Given the description of an element on the screen output the (x, y) to click on. 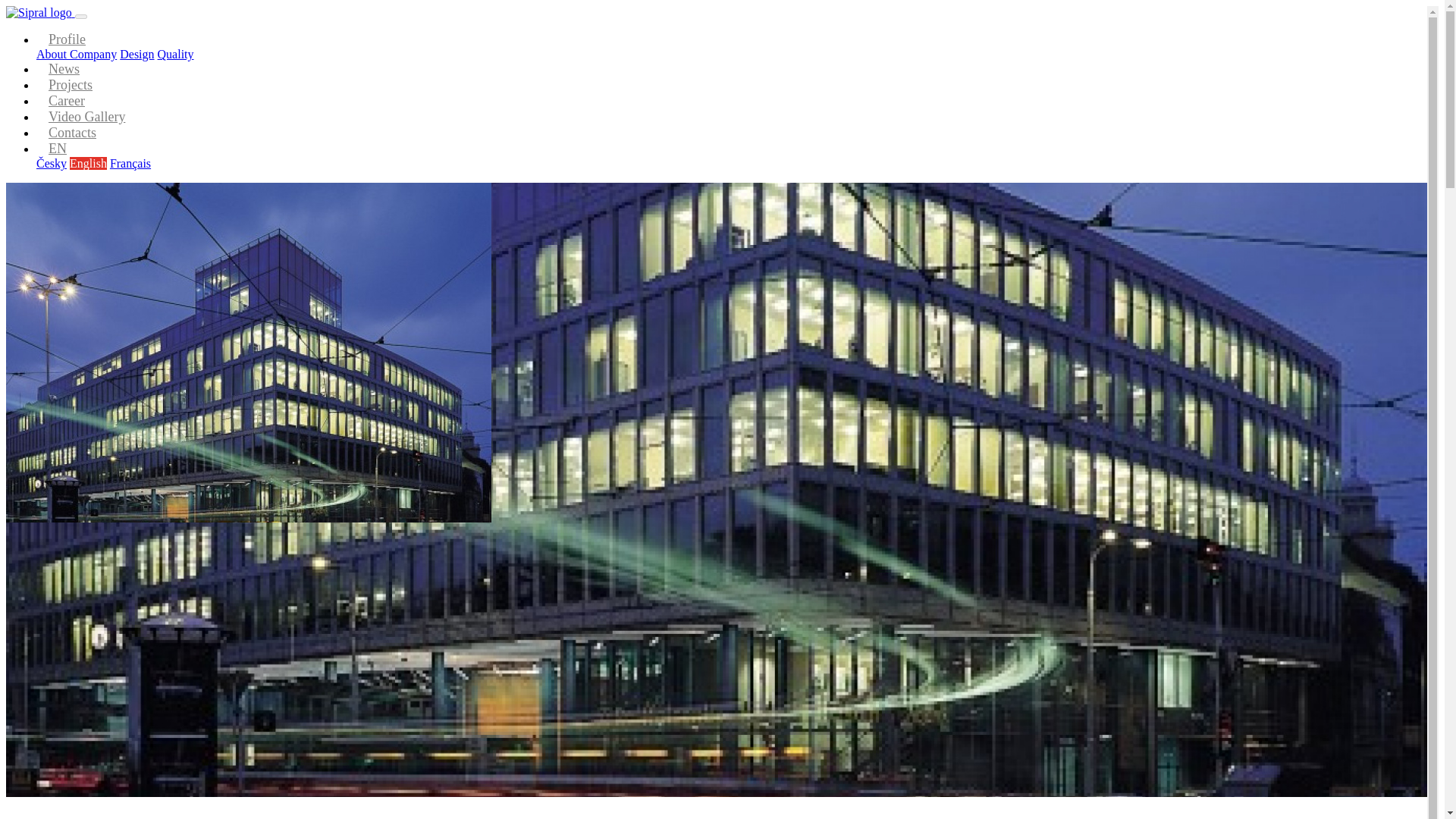
English (87, 163)
Projects (70, 85)
Quality (175, 53)
Design (136, 53)
EN (57, 149)
Video Gallery (86, 117)
Contacts (72, 133)
Profile (66, 39)
Career (66, 101)
About Company (76, 53)
